Given the description of an element on the screen output the (x, y) to click on. 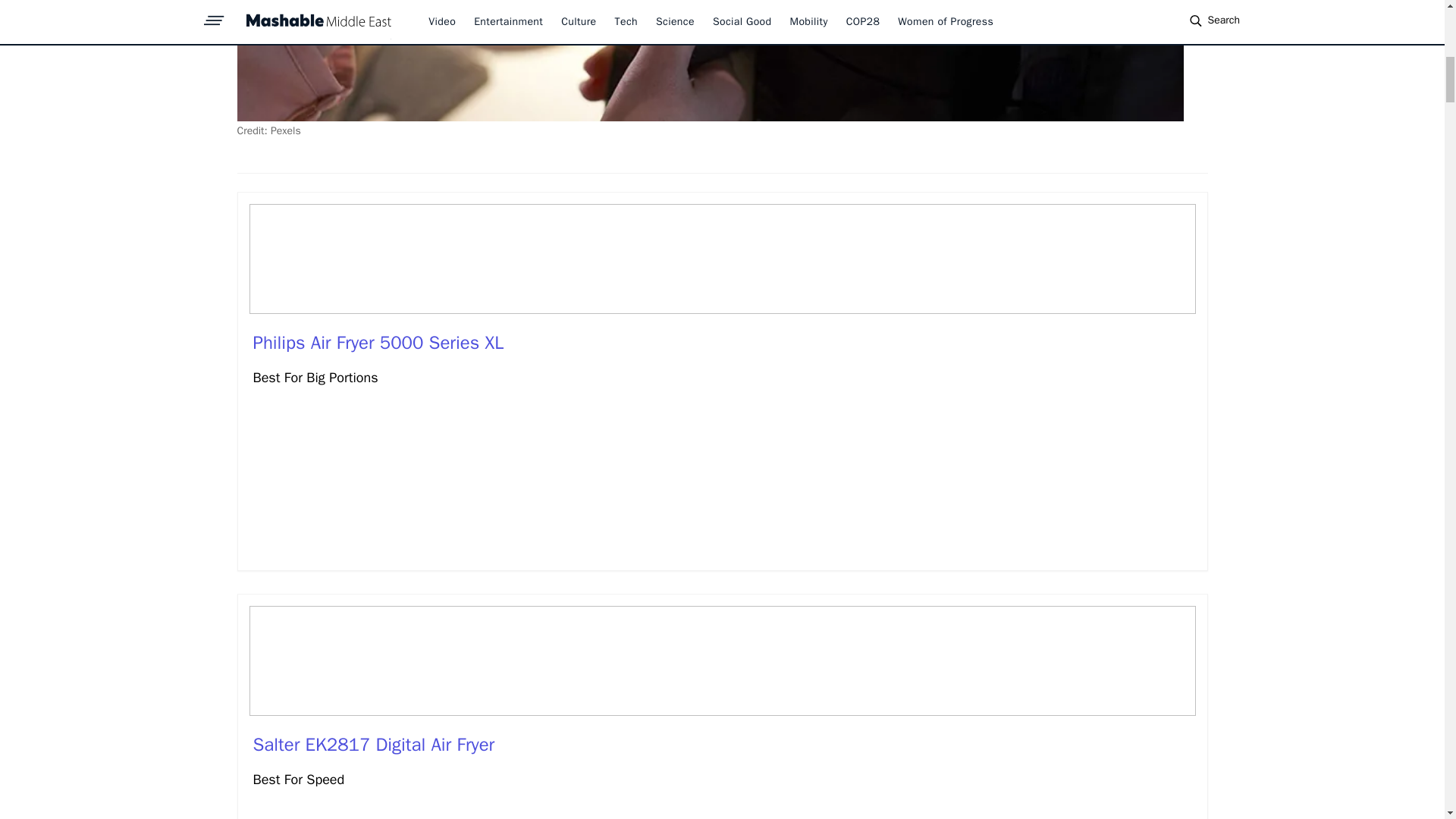
Salter EK2817 Digital Air Fryer (374, 744)
Philips Air Fryer 5000 Series XL (378, 342)
